Given the description of an element on the screen output the (x, y) to click on. 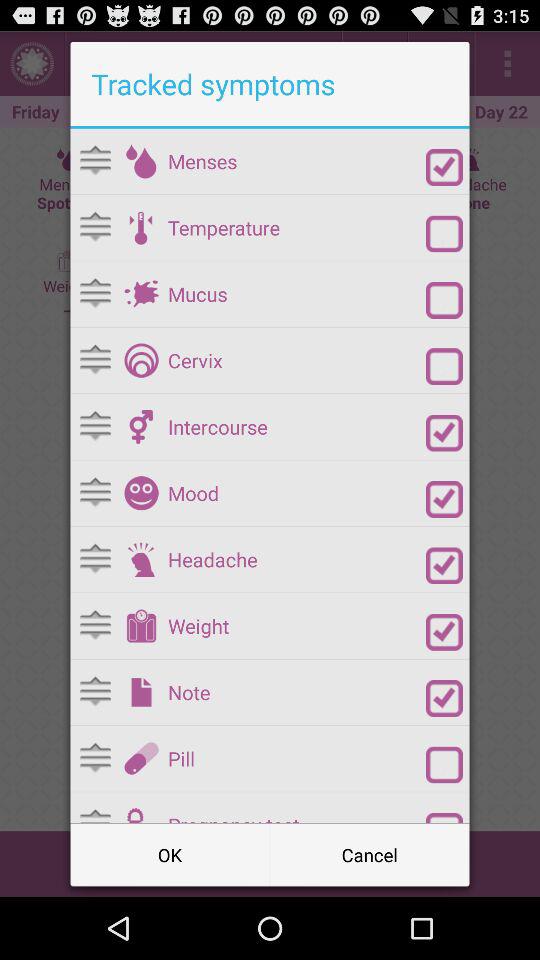
disable menses (444, 167)
